Given the description of an element on the screen output the (x, y) to click on. 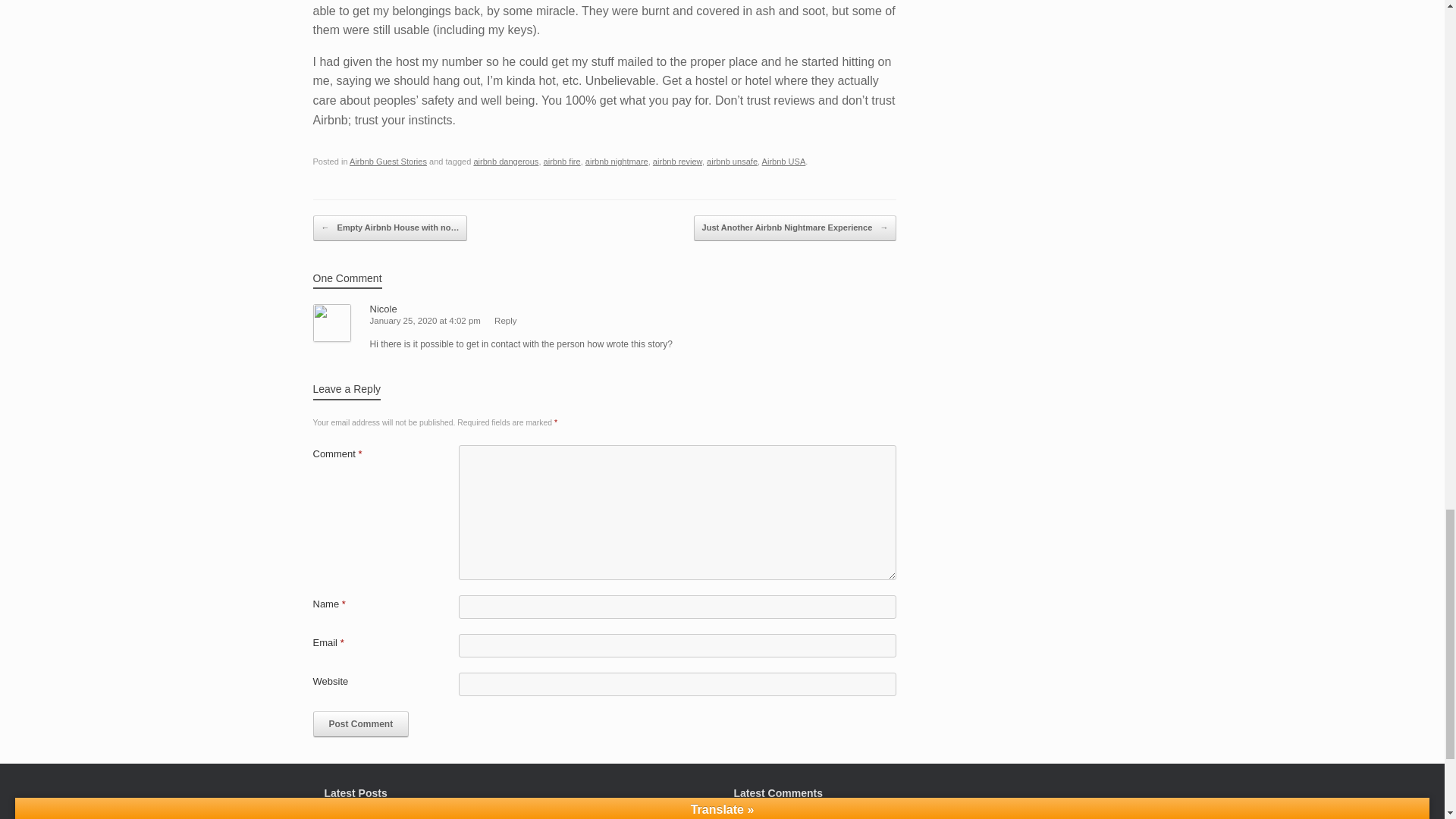
Airbnb Guest Stories (387, 161)
Reply (505, 320)
airbnb nightmare (616, 161)
airbnb dangerous (505, 161)
Post Comment (361, 724)
airbnb unsafe (731, 161)
airbnb review (676, 161)
January 25, 2020 at 4:02 pm (424, 320)
airbnb fire (561, 161)
Airbnb USA (783, 161)
